Given the description of an element on the screen output the (x, y) to click on. 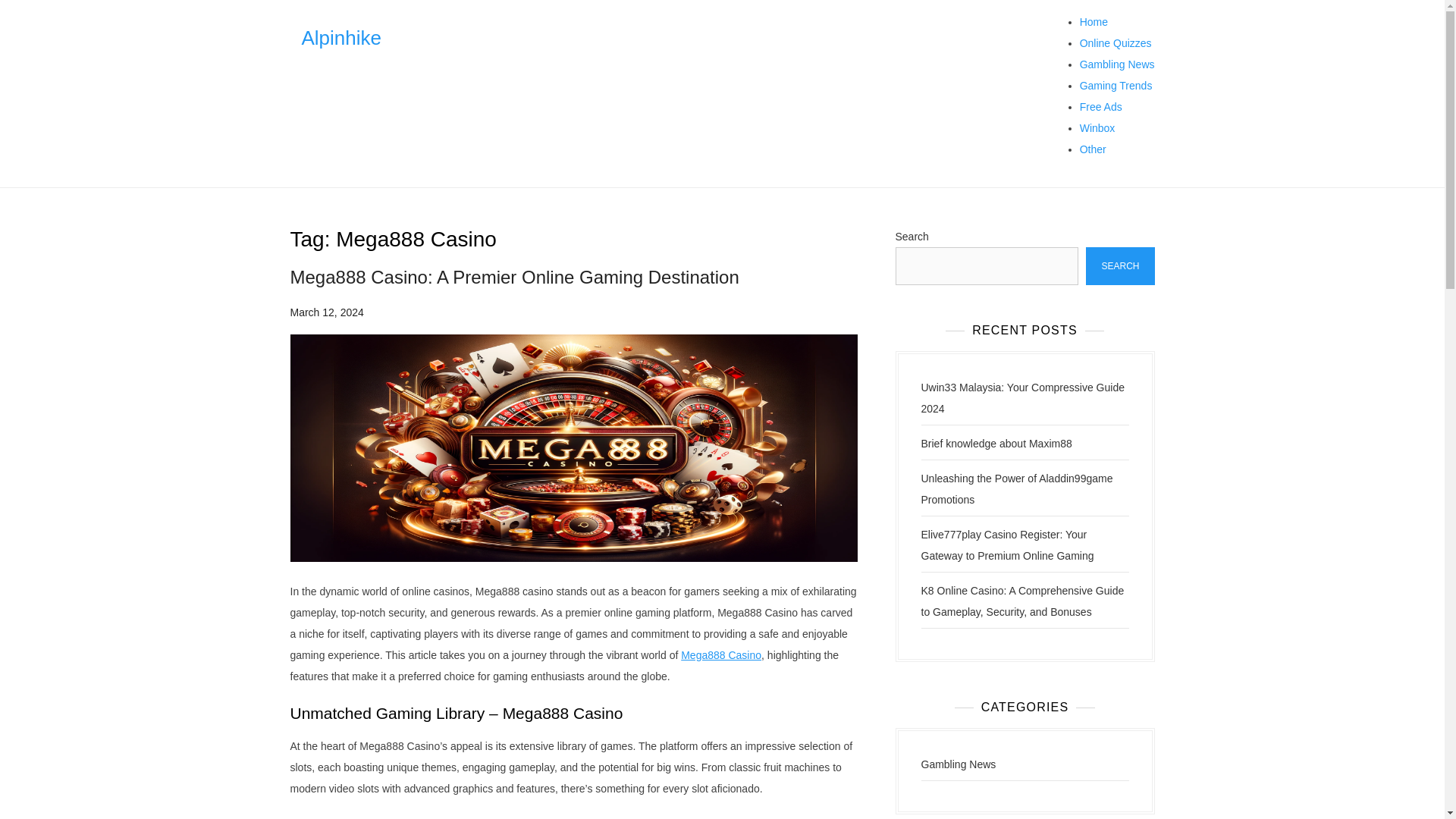
Other (1093, 149)
Brief knowledge about Maxim88 (995, 443)
Gambling News (957, 764)
Winbox (1097, 128)
Alpinhike (341, 37)
Mega888 Casino: A Premier Online Gaming Destination (513, 276)
Free Ads (1101, 106)
Online Quizzes (1115, 42)
SEARCH (1120, 266)
Gambling News (1117, 64)
Uwin33 Malaysia: Your Compressive Guide 2024 (1022, 397)
Mega888 Casino (721, 654)
Home (1094, 21)
Unleashing the Power of Aladdin99game Promotions (1016, 489)
